Given the description of an element on the screen output the (x, y) to click on. 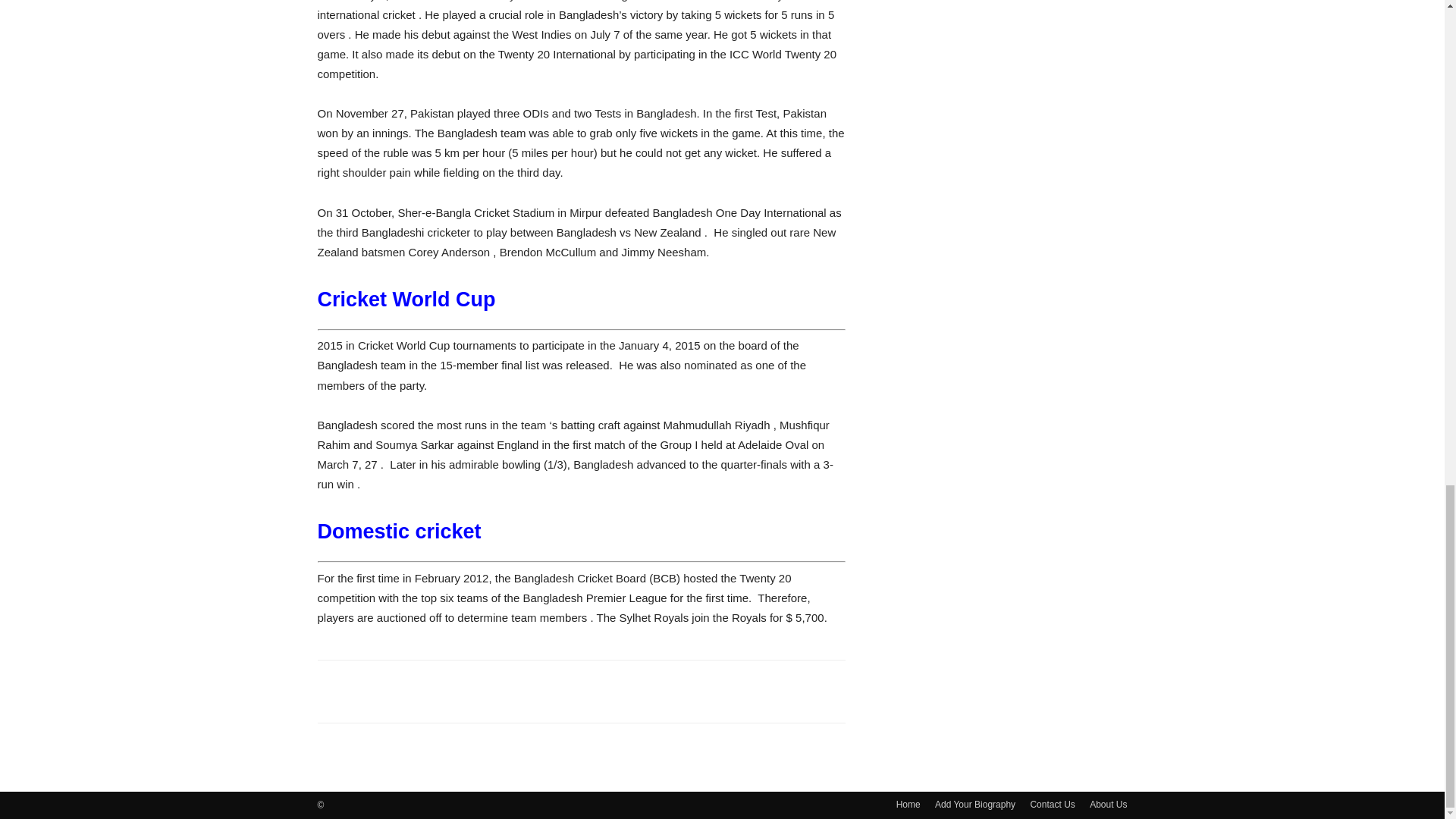
About Us (1107, 804)
Add Your Biography (974, 804)
Home (908, 804)
Contact Us (1051, 804)
